Given the description of an element on the screen output the (x, y) to click on. 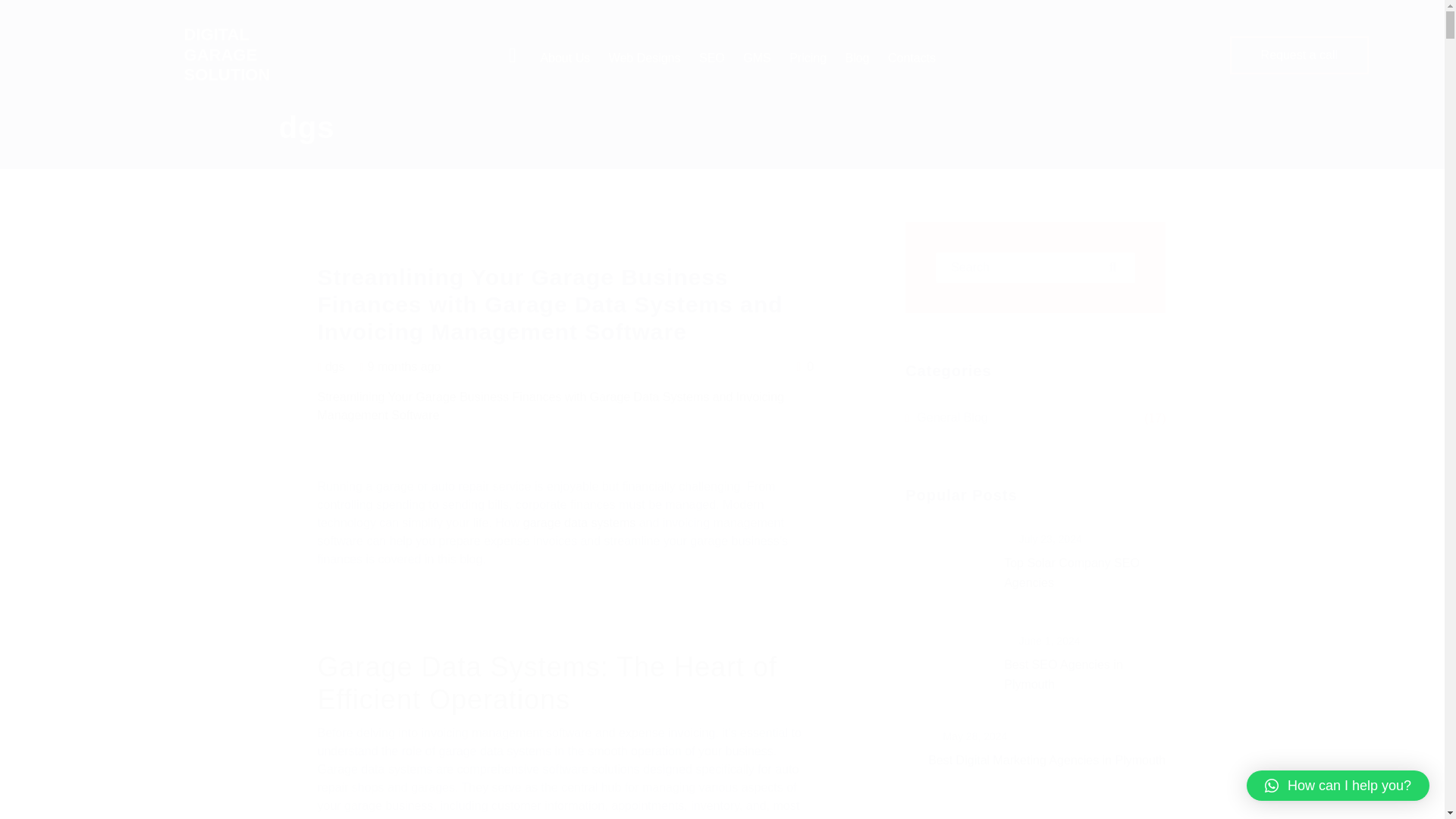
9 months ago (404, 366)
dgs (334, 366)
Search for: (1035, 267)
Request a call (1299, 55)
garage data systems (579, 522)
